Given the description of an element on the screen output the (x, y) to click on. 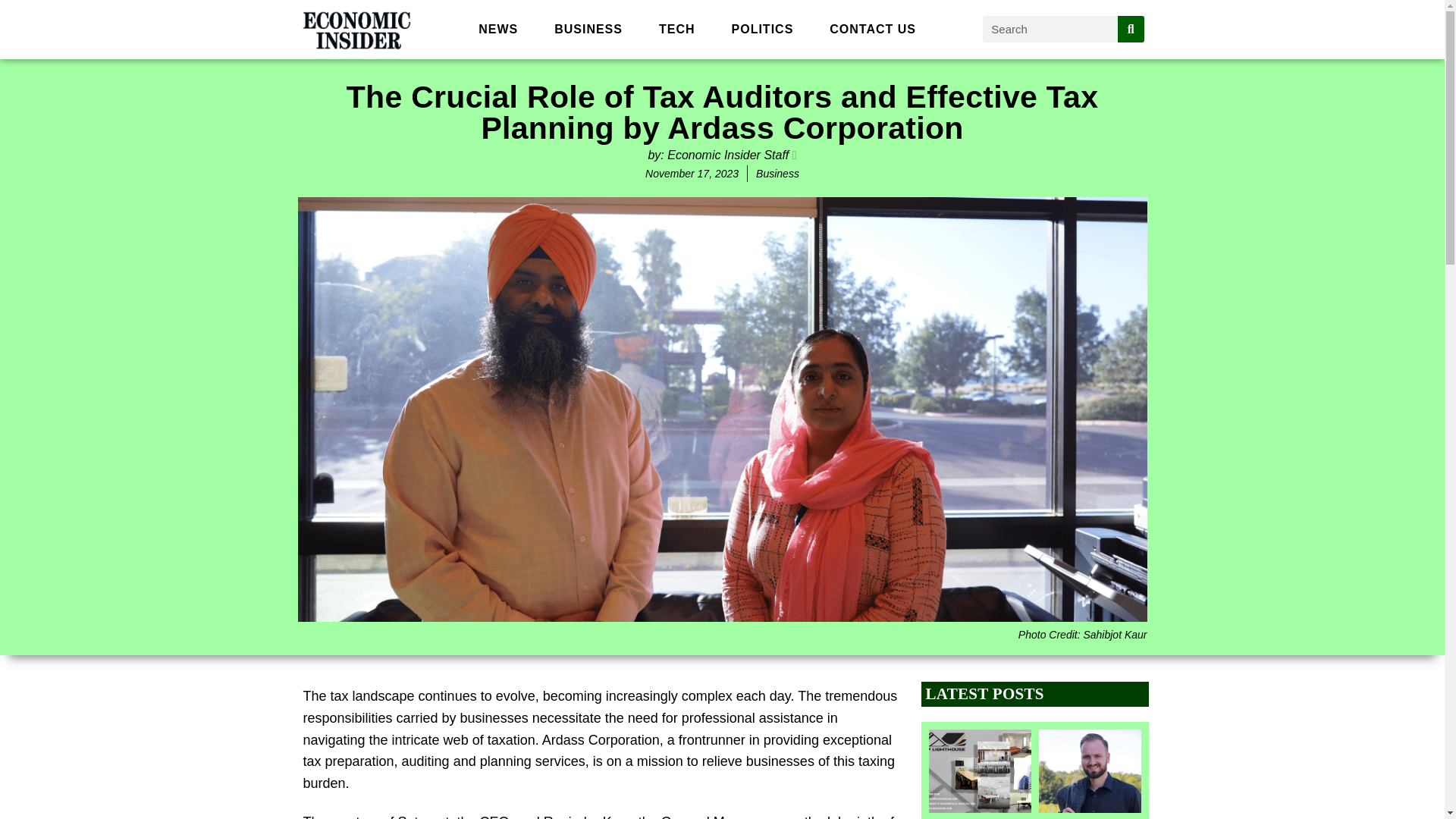
BUSINESS (587, 29)
Business (777, 173)
CONTACT US (872, 29)
by: Economic Insider Staff (721, 154)
TECH (676, 29)
POLITICS (762, 29)
NEWS (497, 29)
November 17, 2023 (691, 173)
